Given the description of an element on the screen output the (x, y) to click on. 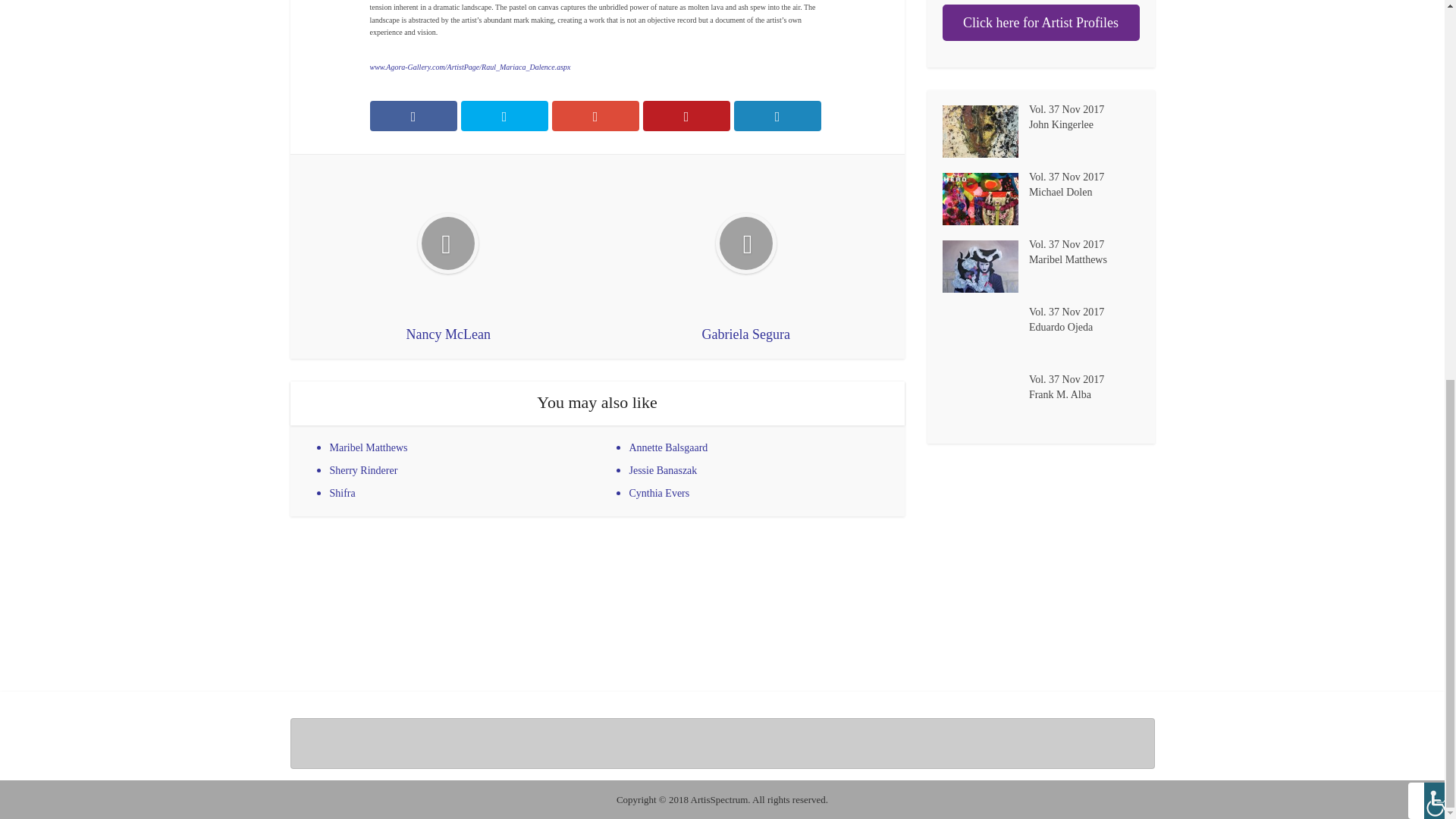
Maribel Matthews (984, 266)
Michael Dolen (1084, 189)
Annette Balsgaard (667, 447)
Maribel Matthews (368, 447)
Shifra (342, 492)
John Kingerlee (1084, 122)
Sherry Rinderer (363, 470)
Jessie Banaszak (662, 470)
Nancy McLean (448, 256)
Gabriela Segura (746, 256)
Annette Balsgaard (667, 447)
Jessie Banaszak (662, 470)
John Kingerlee (984, 131)
Sherry Rinderer (363, 470)
Maribel Matthews (368, 447)
